Given the description of an element on the screen output the (x, y) to click on. 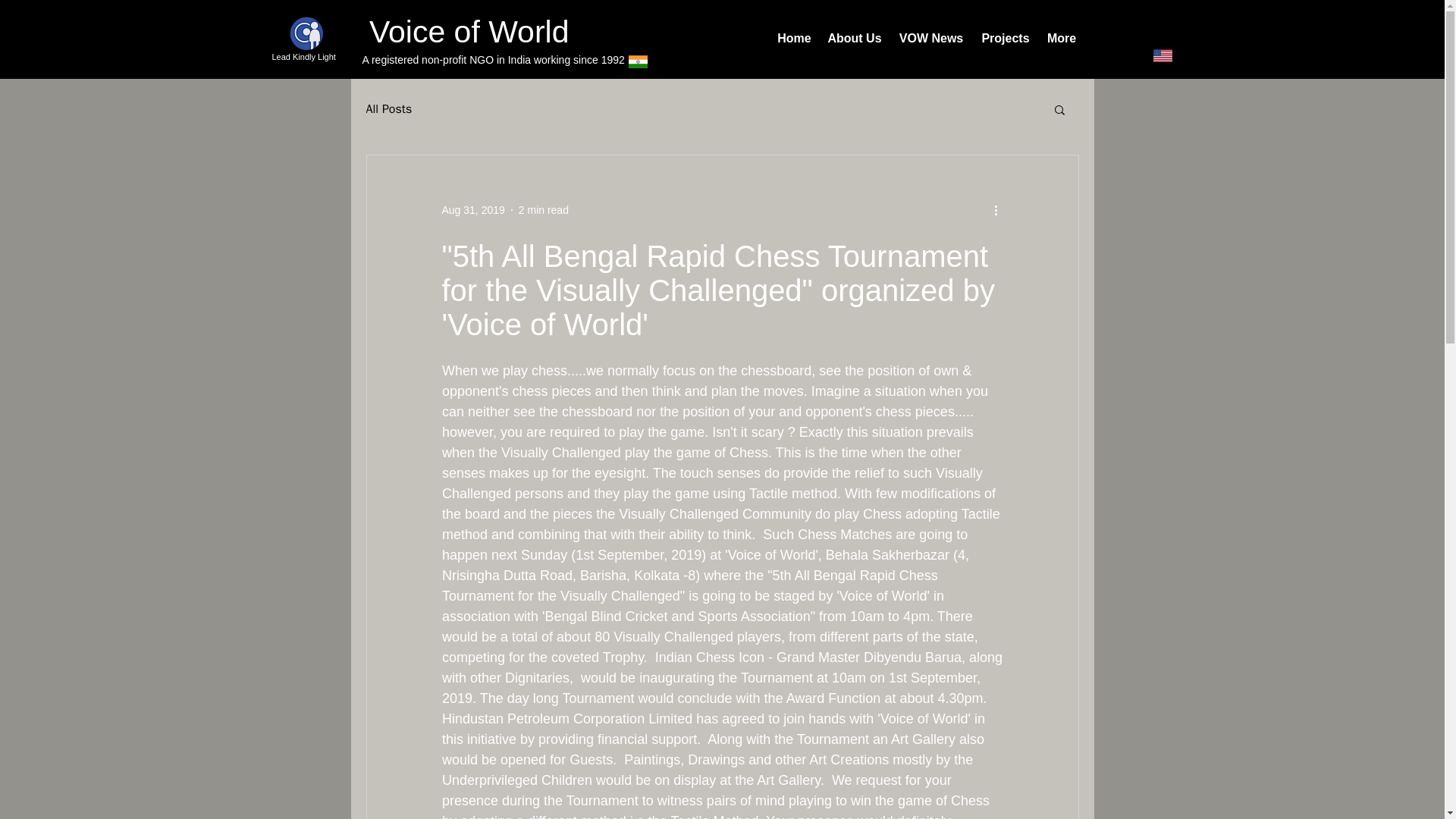
About Us (853, 38)
Home (793, 38)
Aug 31, 2019 (472, 209)
All Posts (388, 109)
VOW News (930, 38)
Projects (1005, 38)
2 min read (543, 209)
